Given the description of an element on the screen output the (x, y) to click on. 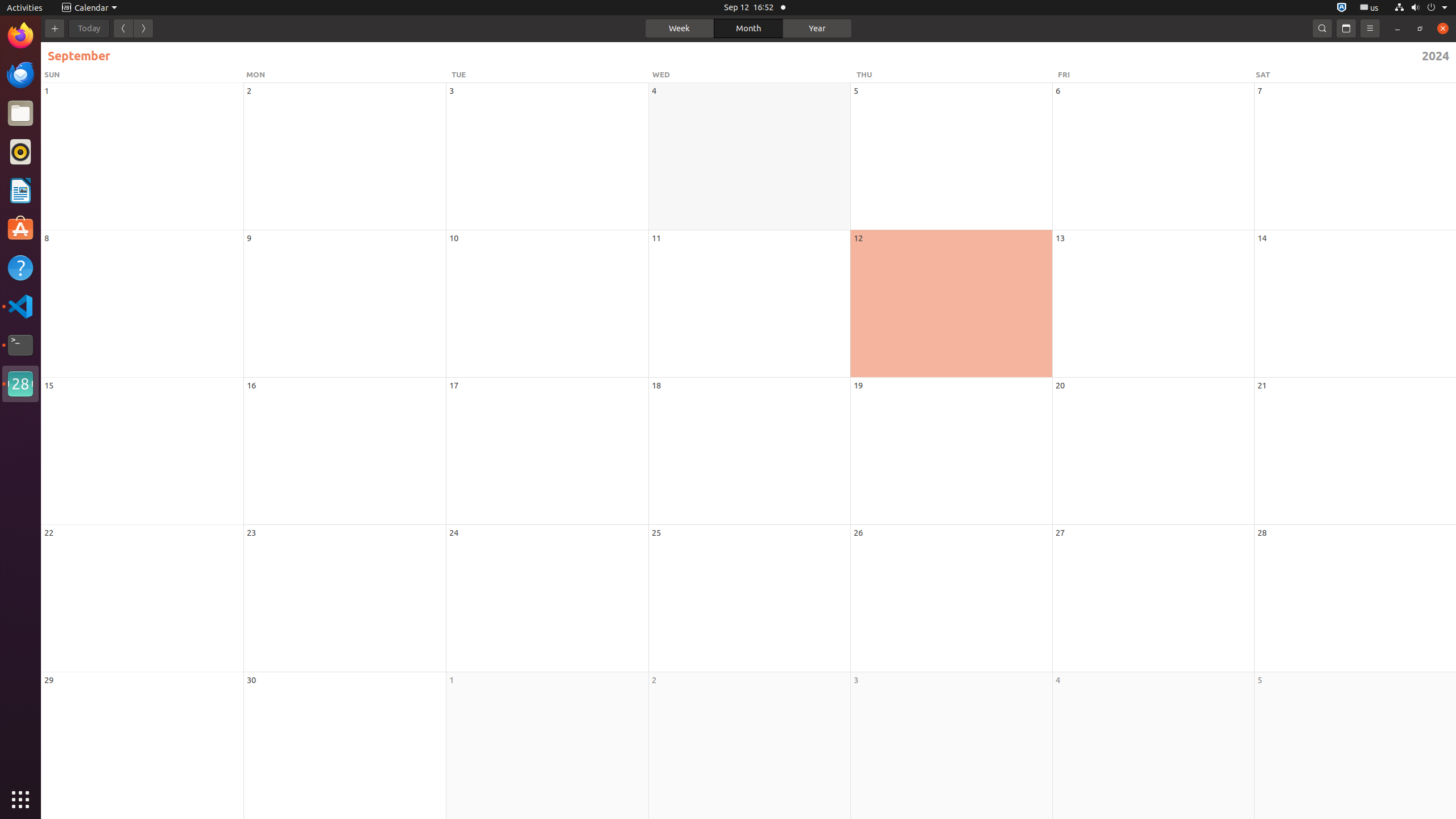
Restore Element type: push-button (1419, 27)
24 Element type: label (453, 532)
25 Element type: label (655, 532)
